Given the description of an element on the screen output the (x, y) to click on. 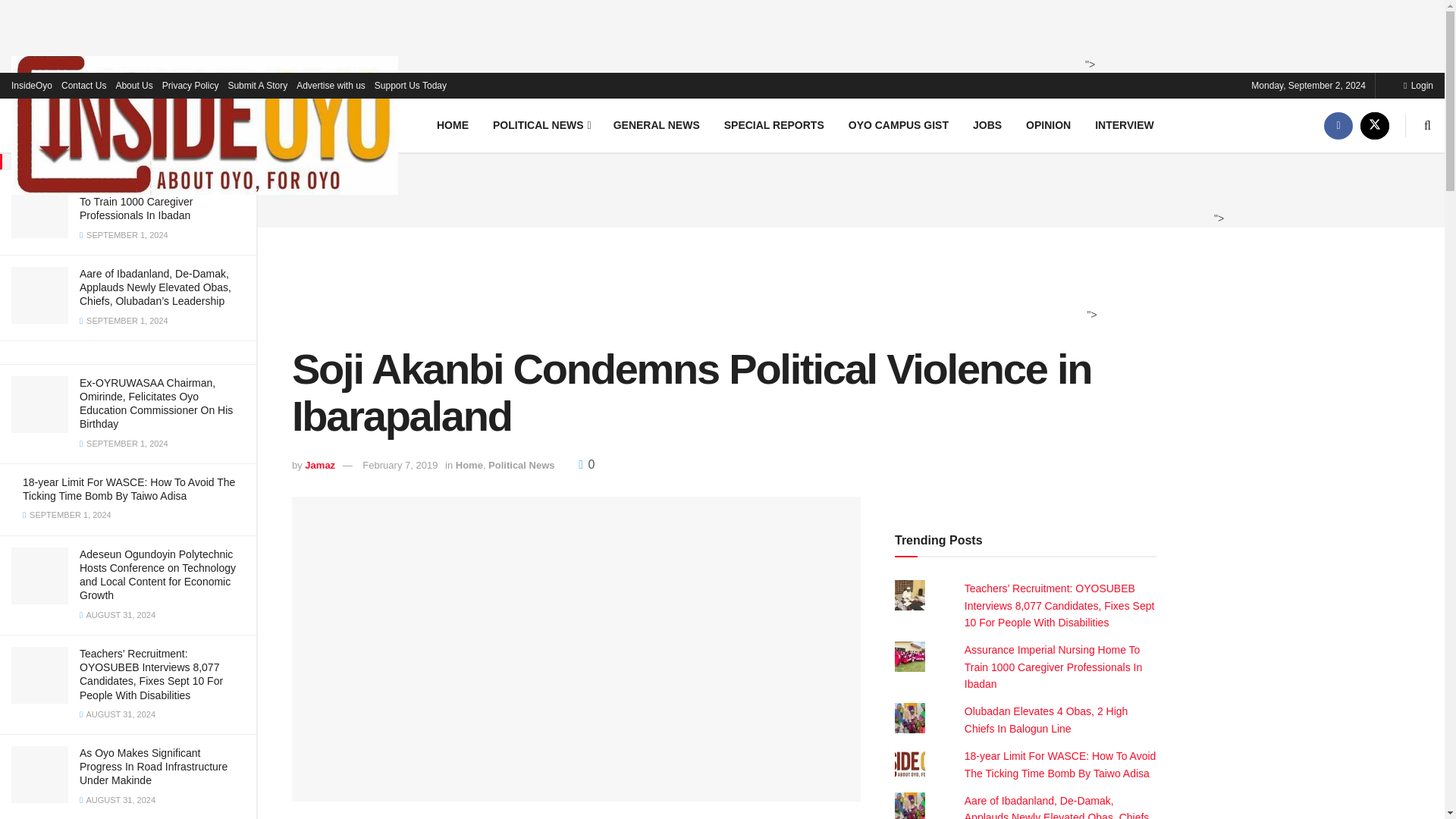
HOME (452, 125)
About Us (133, 85)
Filter (227, 13)
Olubadan Elevates 4 Obas, 2 High Chiefs In Balogun Line (1045, 719)
Advertise with us (331, 85)
InsideOyo (31, 85)
Submit A Story (256, 85)
